Given the description of an element on the screen output the (x, y) to click on. 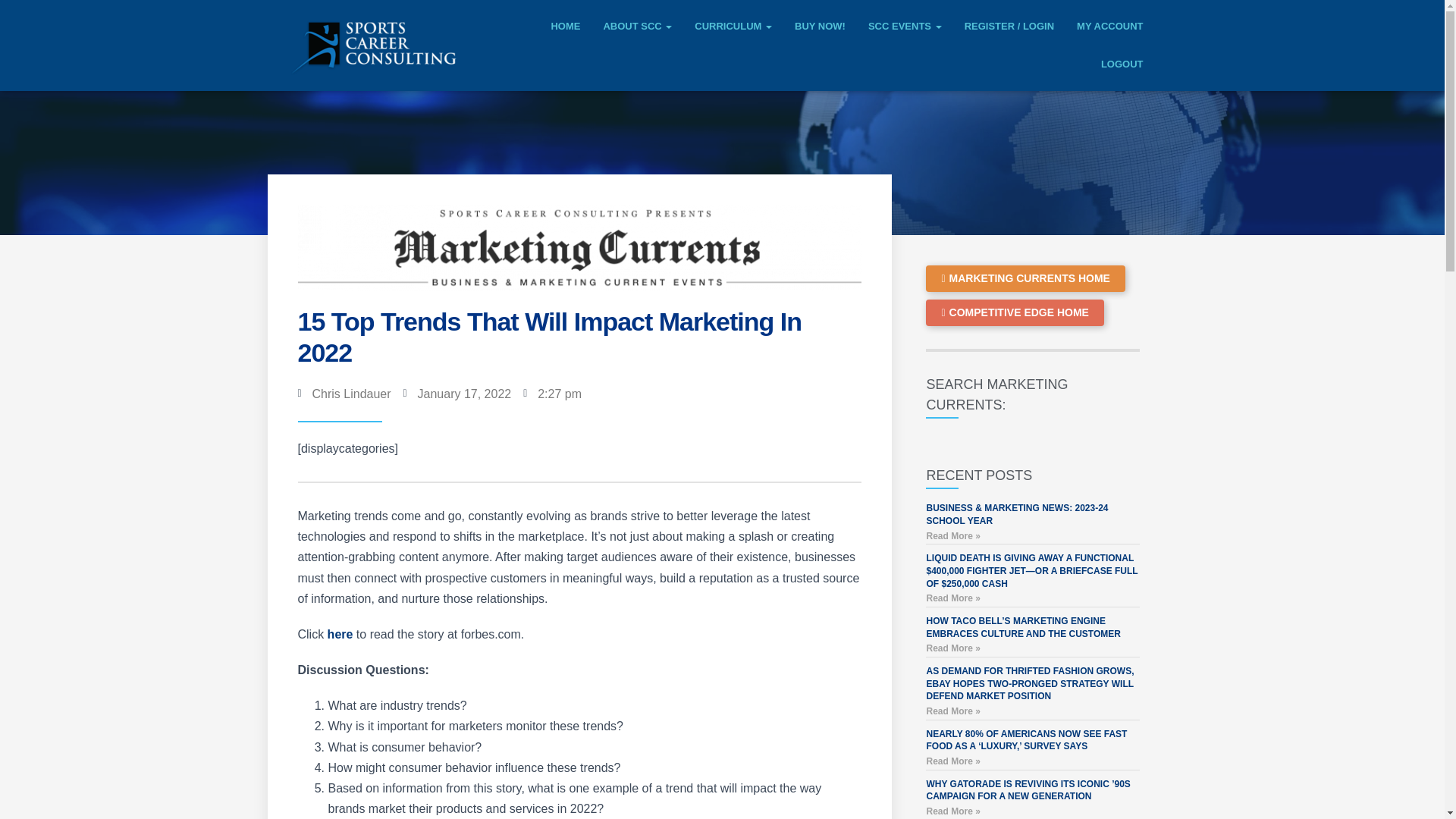
Home (564, 26)
ABOUT SCC (636, 26)
BUY NOW! (820, 26)
MARKETING CURRENTS HOME (1025, 278)
COMPETITIVE EDGE HOME (1014, 312)
SCC EVENTS (905, 26)
LOGOUT (1121, 64)
MY ACCOUNT (1109, 26)
HOME (564, 26)
BUY NOW! (820, 26)
CURRICULUM (732, 26)
here (340, 634)
About SCC (636, 26)
Curriculum (732, 26)
SCC Events (905, 26)
